Given the description of an element on the screen output the (x, y) to click on. 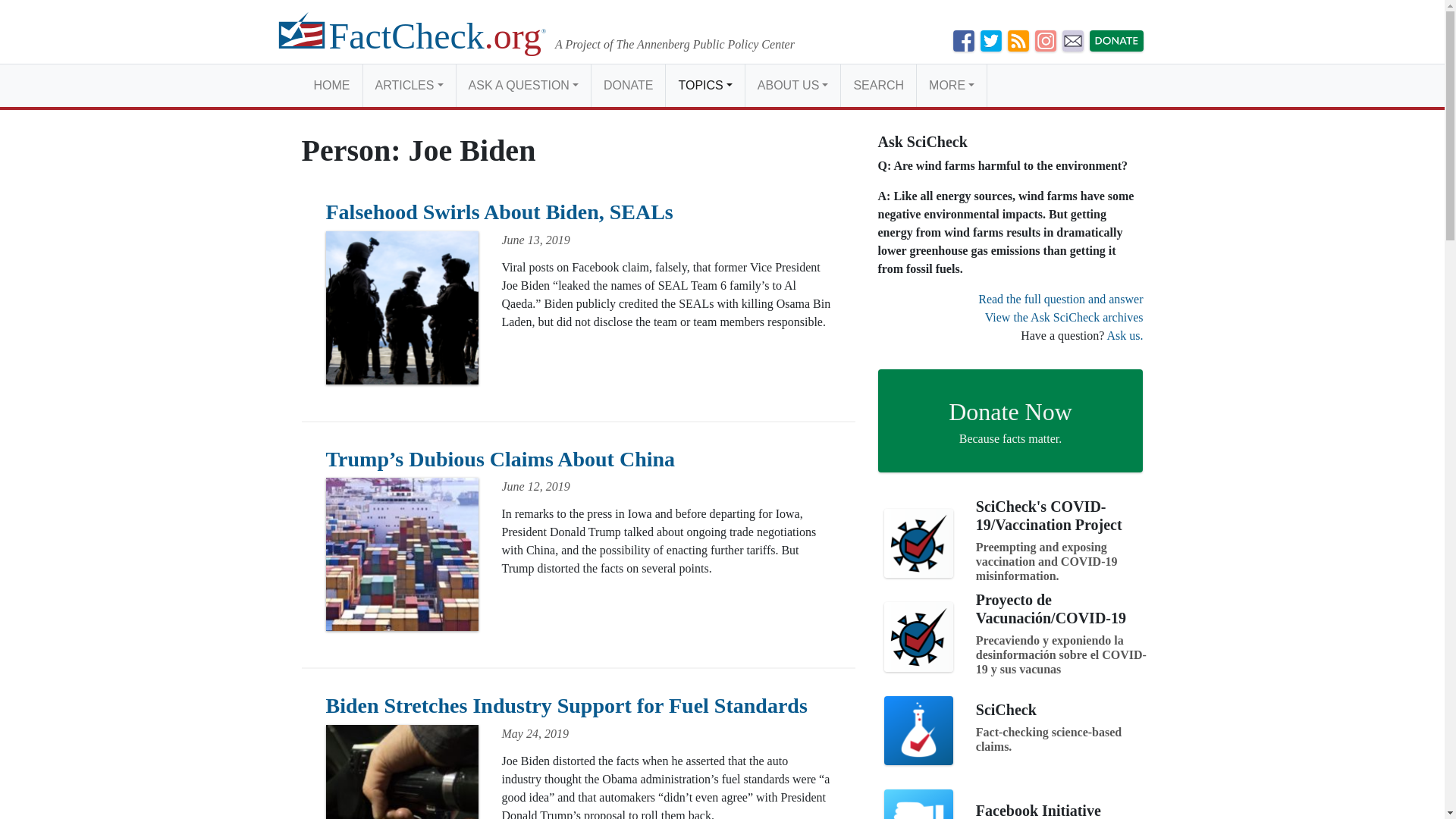
Articles (408, 85)
ARTICLES (408, 85)
TOPICS (704, 85)
Ask a Question (524, 85)
ASK A QUESTION (524, 85)
ABOUT US (792, 85)
Topics (704, 85)
Donate (627, 85)
Home (331, 85)
DONATE (627, 85)
HOME (331, 85)
